Given the description of an element on the screen output the (x, y) to click on. 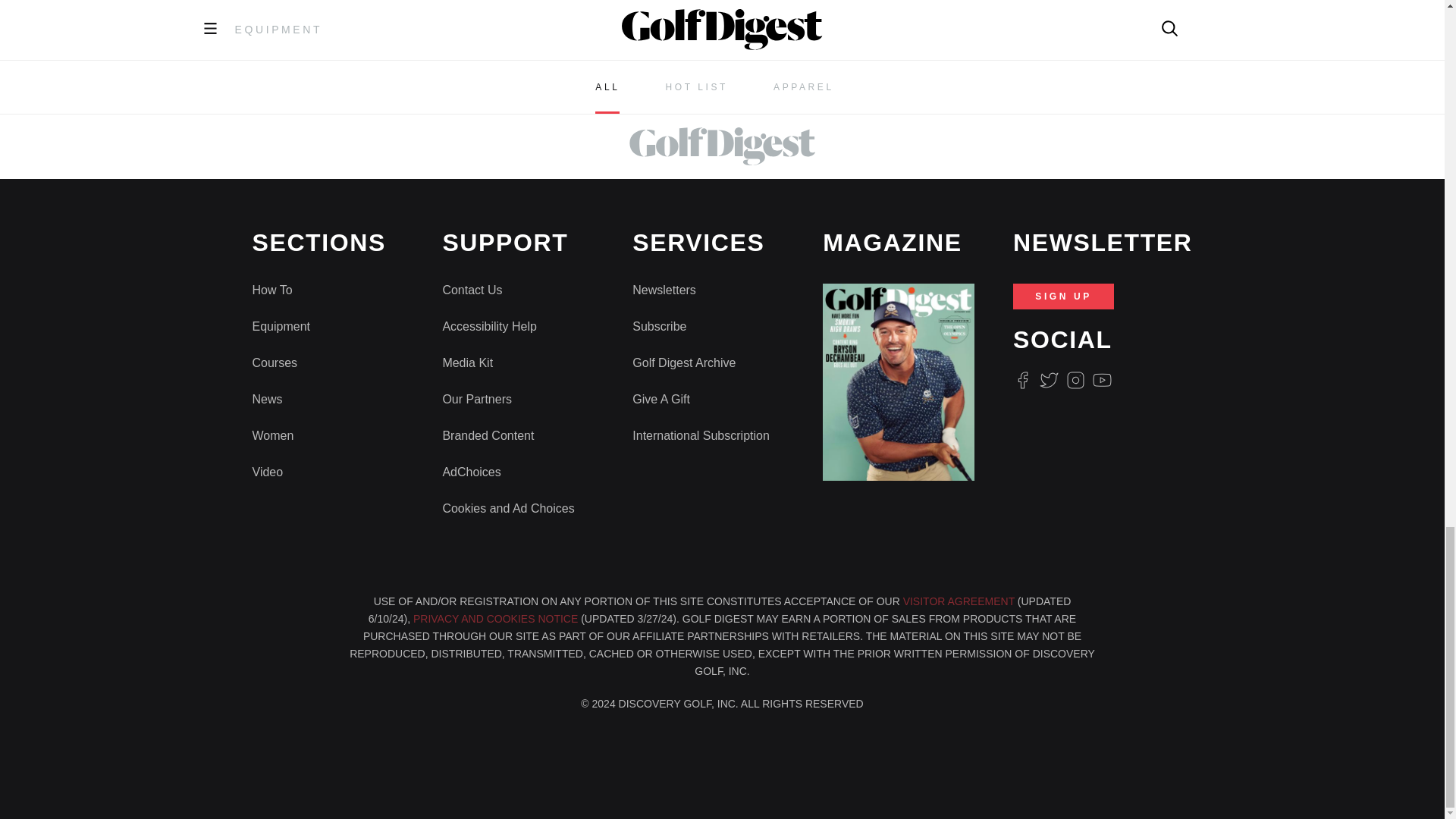
Youtube Icon (1102, 380)
Instagram Logo (1074, 380)
Facebook Logo (1022, 380)
Twitter Logo (1048, 380)
